Given the description of an element on the screen output the (x, y) to click on. 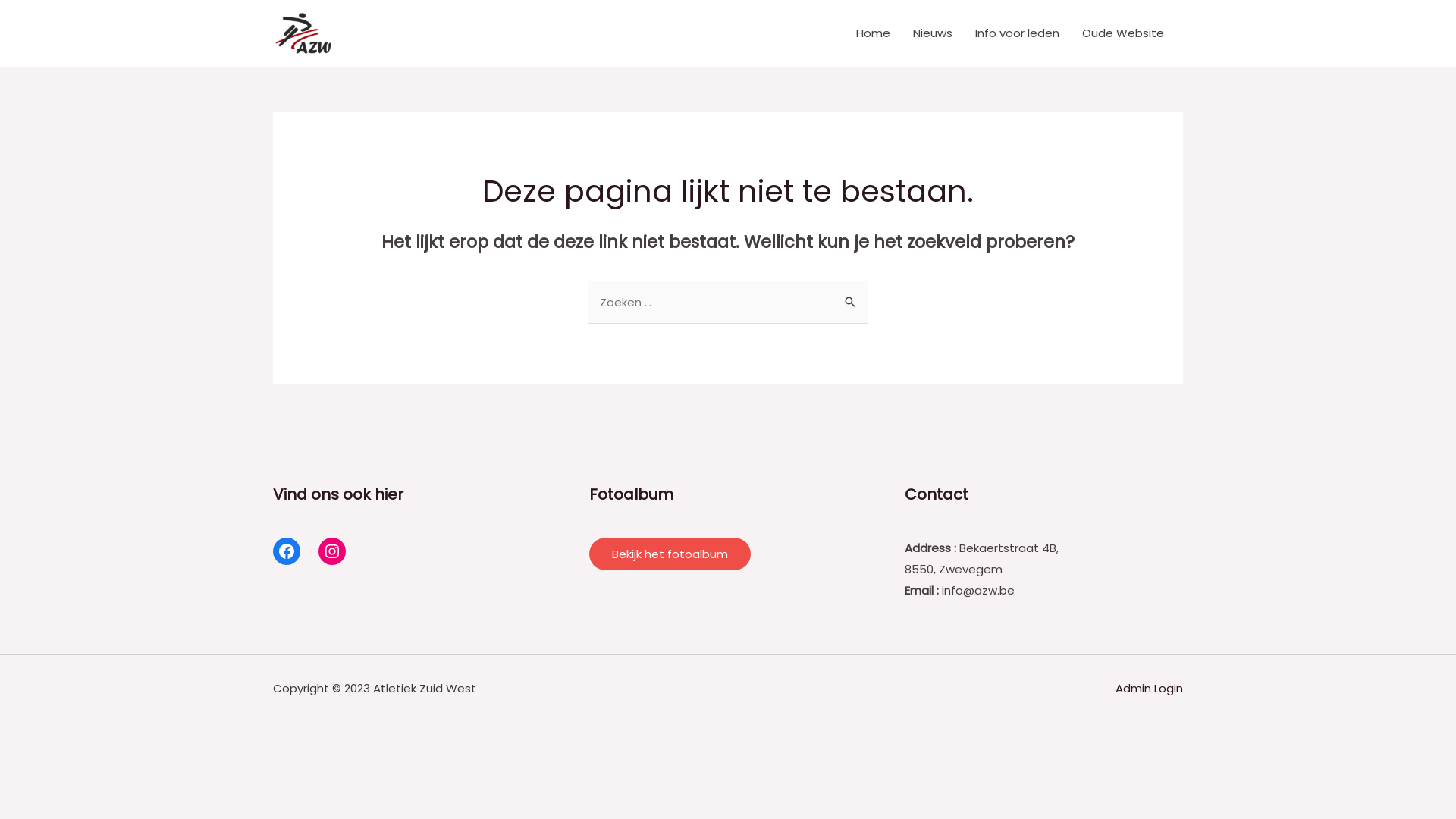
Admin Login Element type: text (1149, 688)
Zoeken Element type: text (851, 295)
Bekijk het fotoalbum Element type: text (669, 553)
Nieuws Element type: text (932, 33)
Home Element type: text (872, 33)
Facebook Element type: text (286, 550)
Info voor leden Element type: text (1016, 33)
Oude Website Element type: text (1122, 33)
Instagram Element type: text (331, 550)
